Given the description of an element on the screen output the (x, y) to click on. 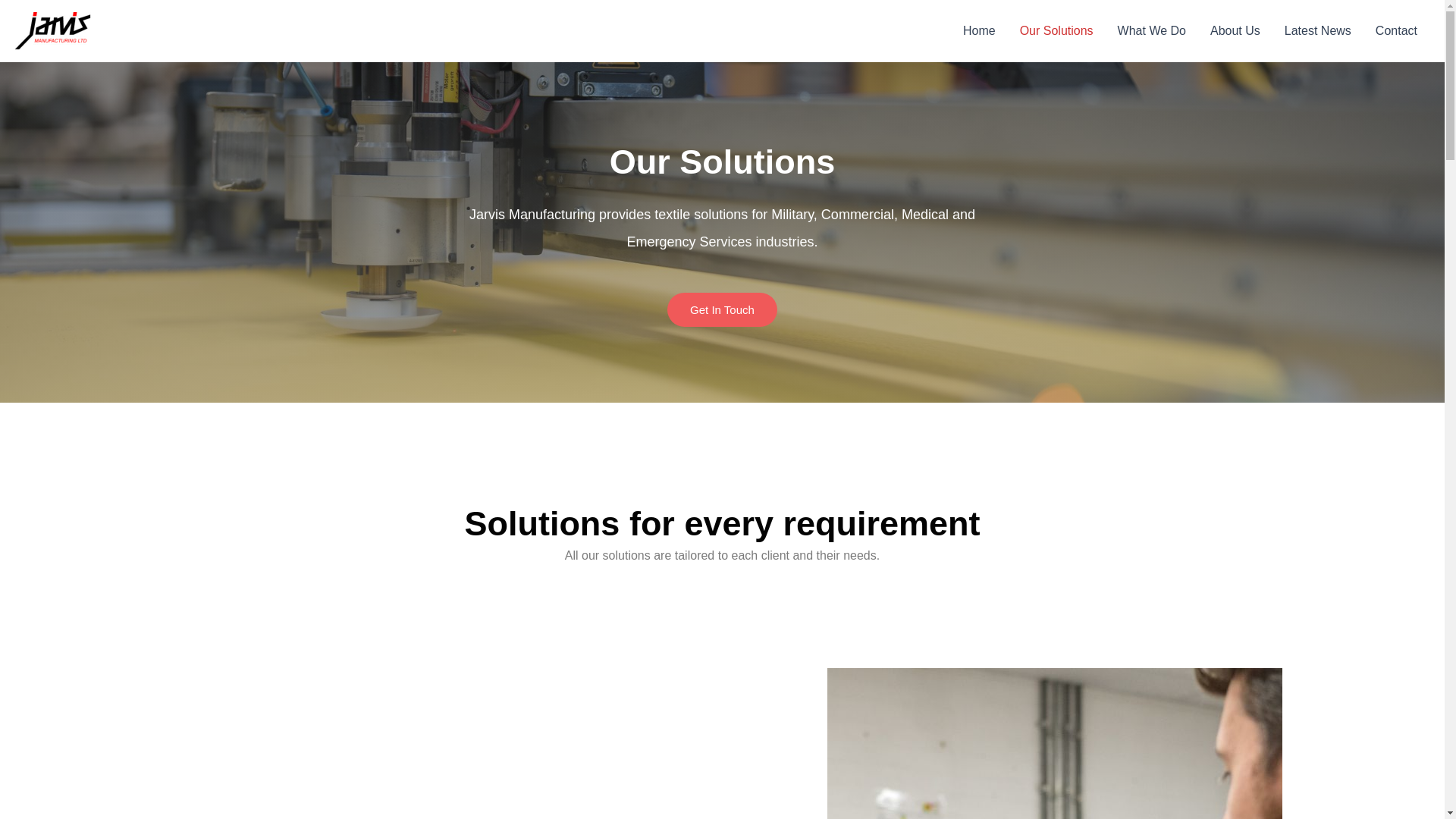
What We Do (1151, 30)
Our Solutions (1056, 30)
Latest News (1317, 30)
Get In Touch (721, 309)
Home (978, 30)
About Us (1235, 30)
Contact (1395, 30)
